Given the description of an element on the screen output the (x, y) to click on. 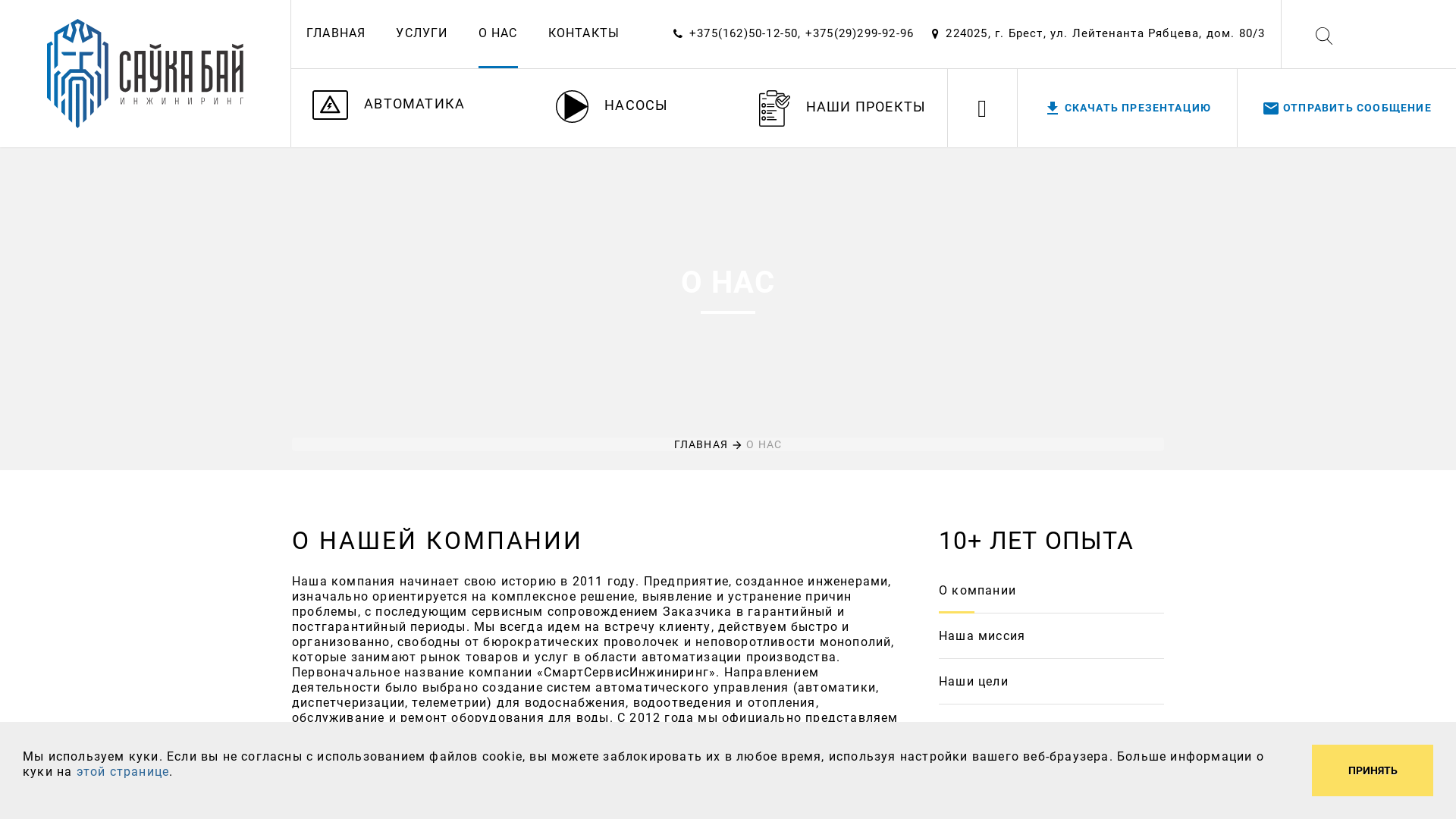
+375(162)50-12-50, +375(29)299-92-96 Element type: text (801, 33)
